Given the description of an element on the screen output the (x, y) to click on. 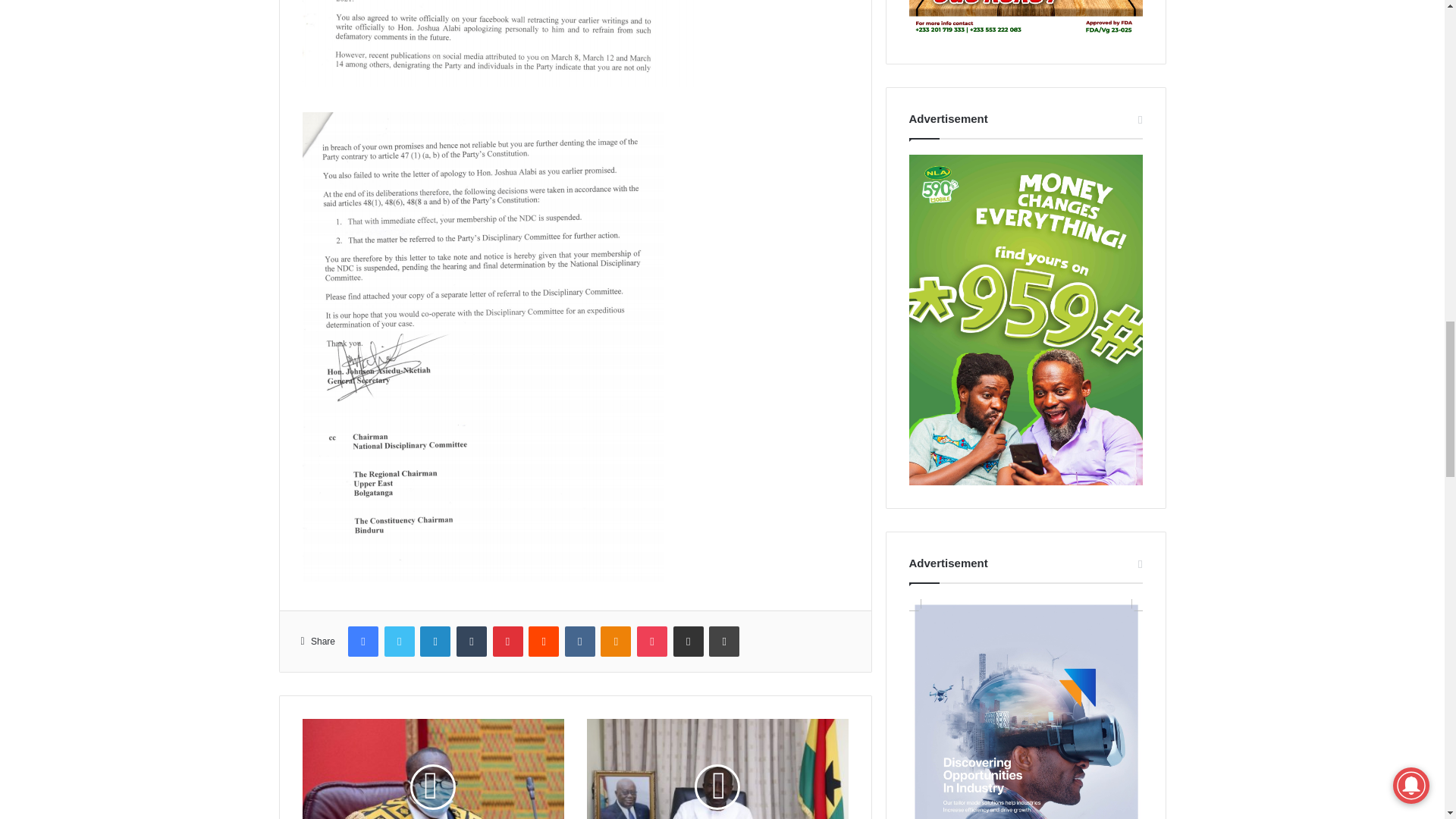
LinkedIn (434, 641)
Facebook (362, 641)
Twitter (399, 641)
